Given the description of an element on the screen output the (x, y) to click on. 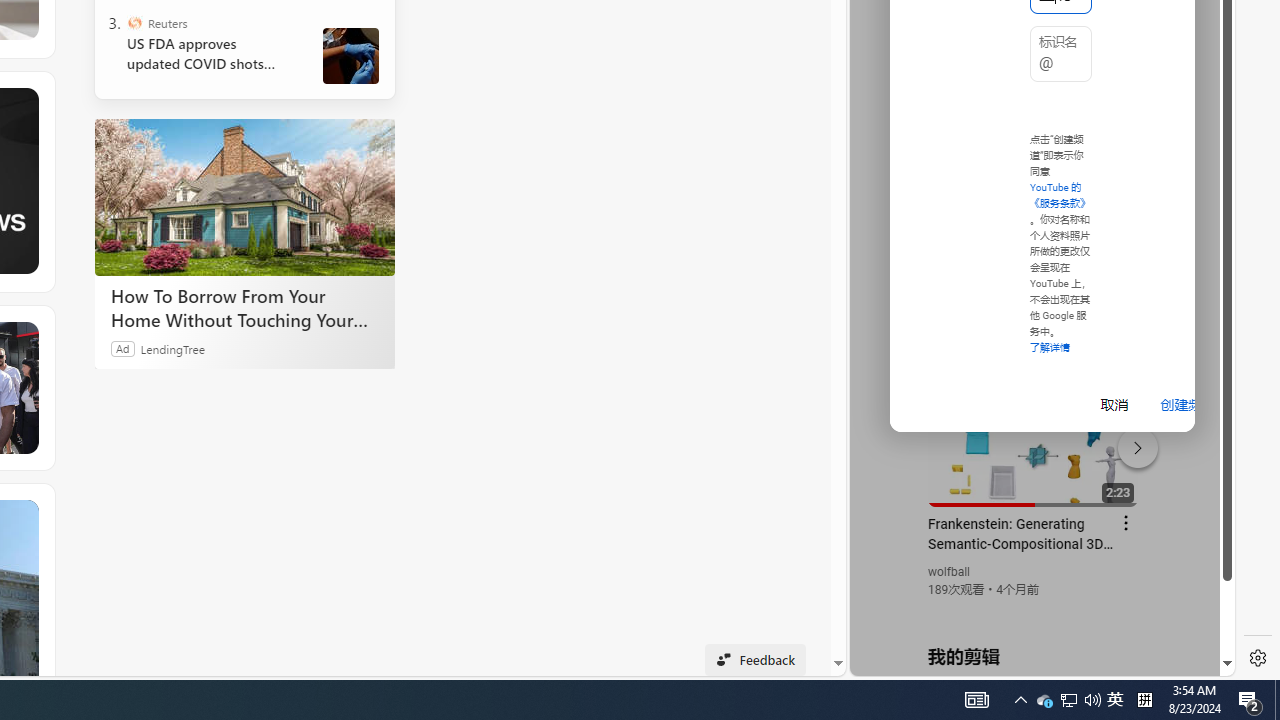
US[ju] (917, 660)
YouTube - YouTube (1034, 266)
Class: dict_pnIcon rms_img (1028, 660)
you (1034, 609)
YouTube (1034, 432)
